Given the description of an element on the screen output the (x, y) to click on. 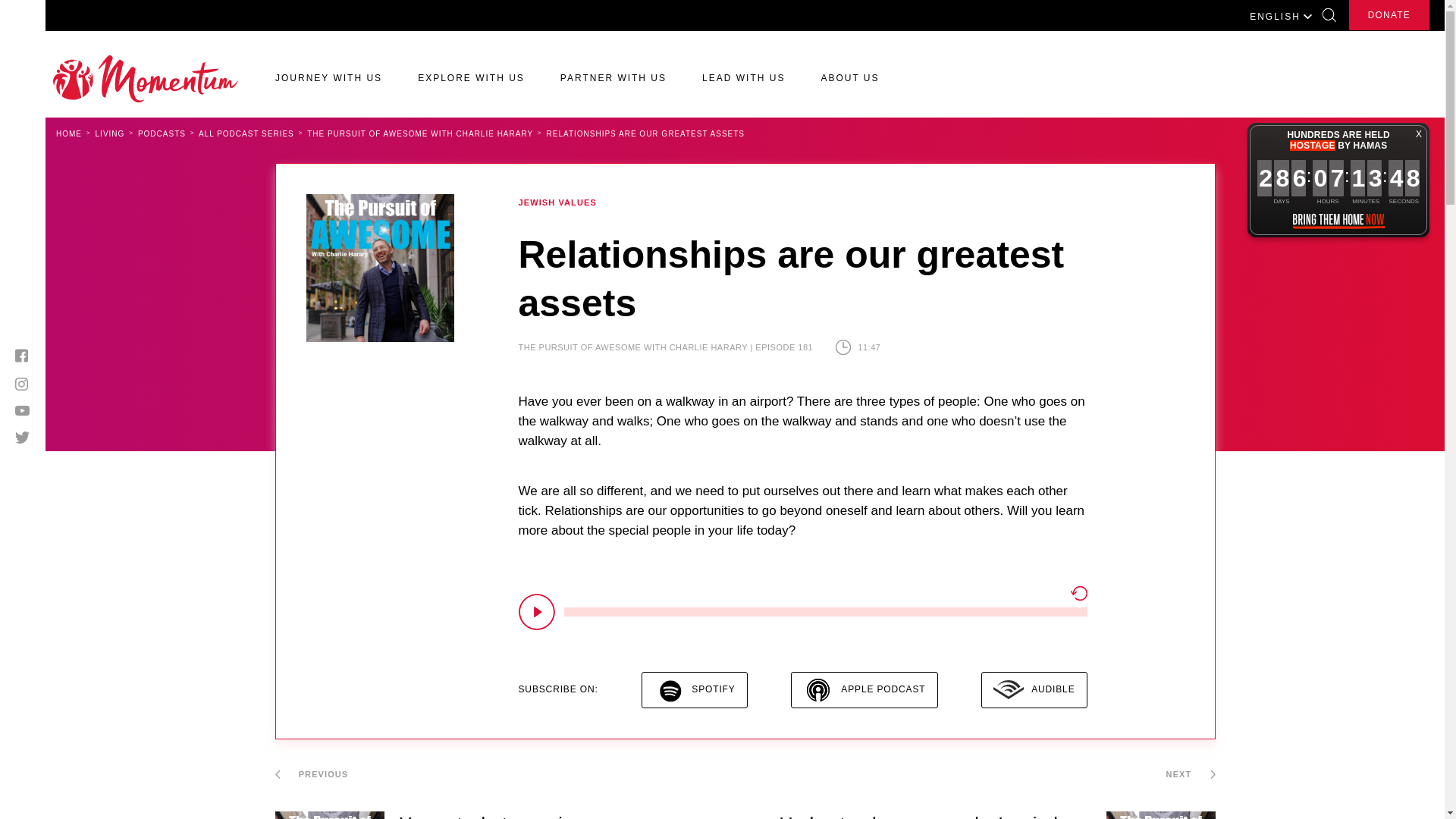
DONATE (1389, 15)
ENGLISH (1280, 15)
JOURNEY WITH US (328, 83)
